Given the description of an element on the screen output the (x, y) to click on. 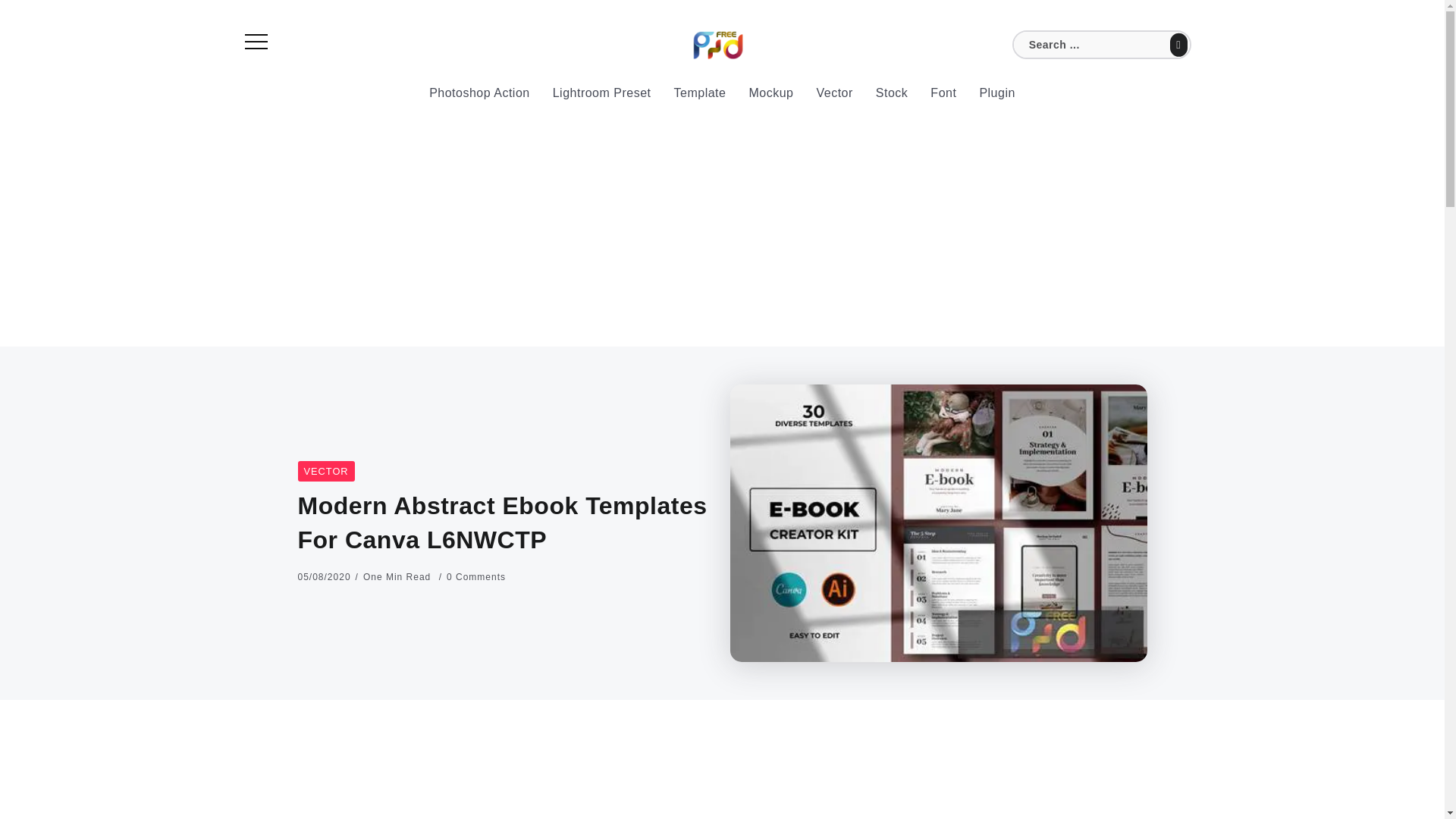
Advertisement (572, 771)
Vector (834, 92)
Advertisement (1010, 782)
Template (700, 92)
Mockup (770, 92)
Modern Abstract Ebook Templates For Canva L6NWCTP (938, 522)
Photoshop Action (479, 92)
0 Comments (475, 576)
Font (943, 92)
Vector (325, 471)
